Given the description of an element on the screen output the (x, y) to click on. 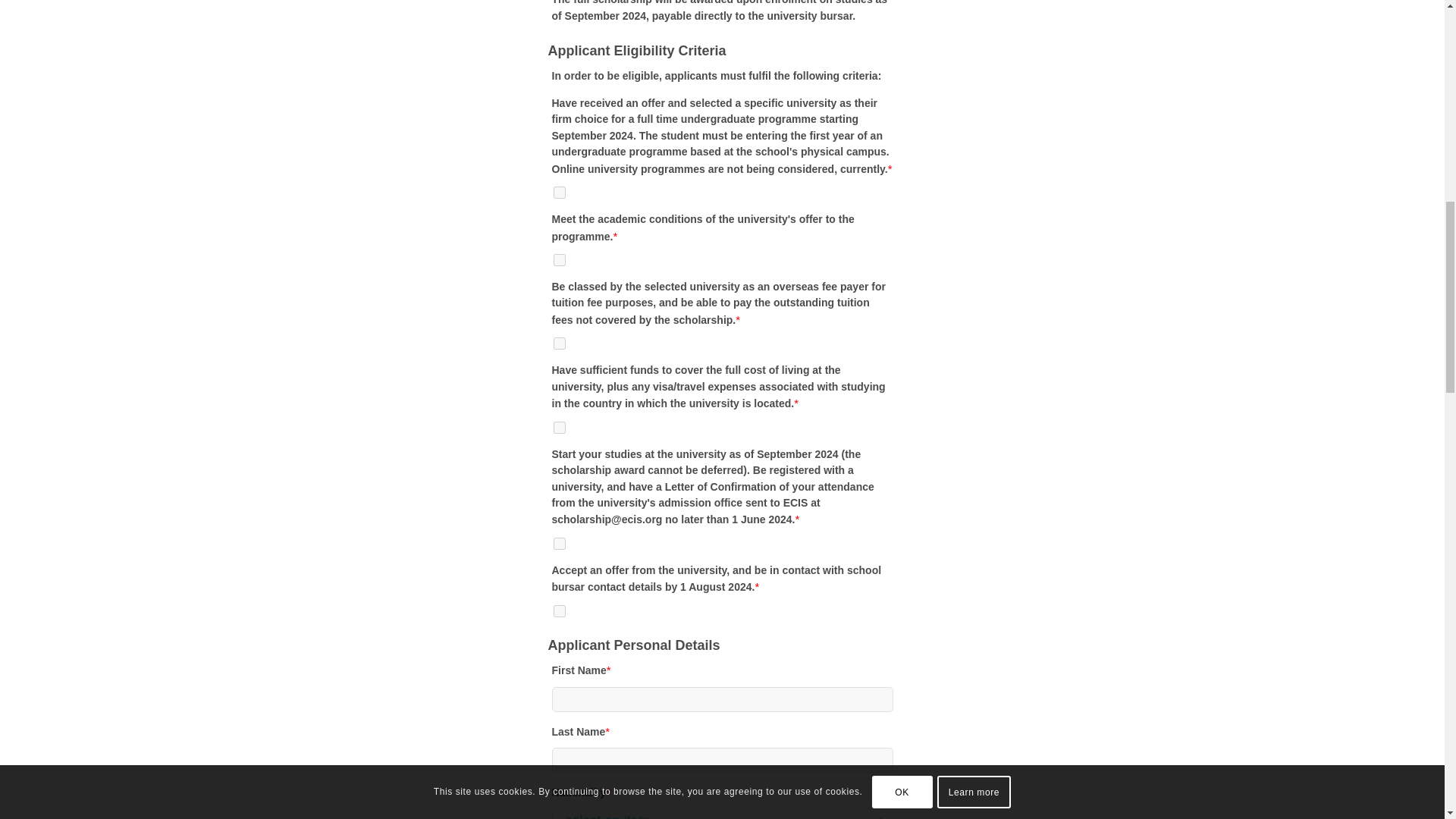
on (559, 543)
on (559, 611)
on (559, 259)
on (559, 427)
on (559, 192)
on (559, 343)
